Given the description of an element on the screen output the (x, y) to click on. 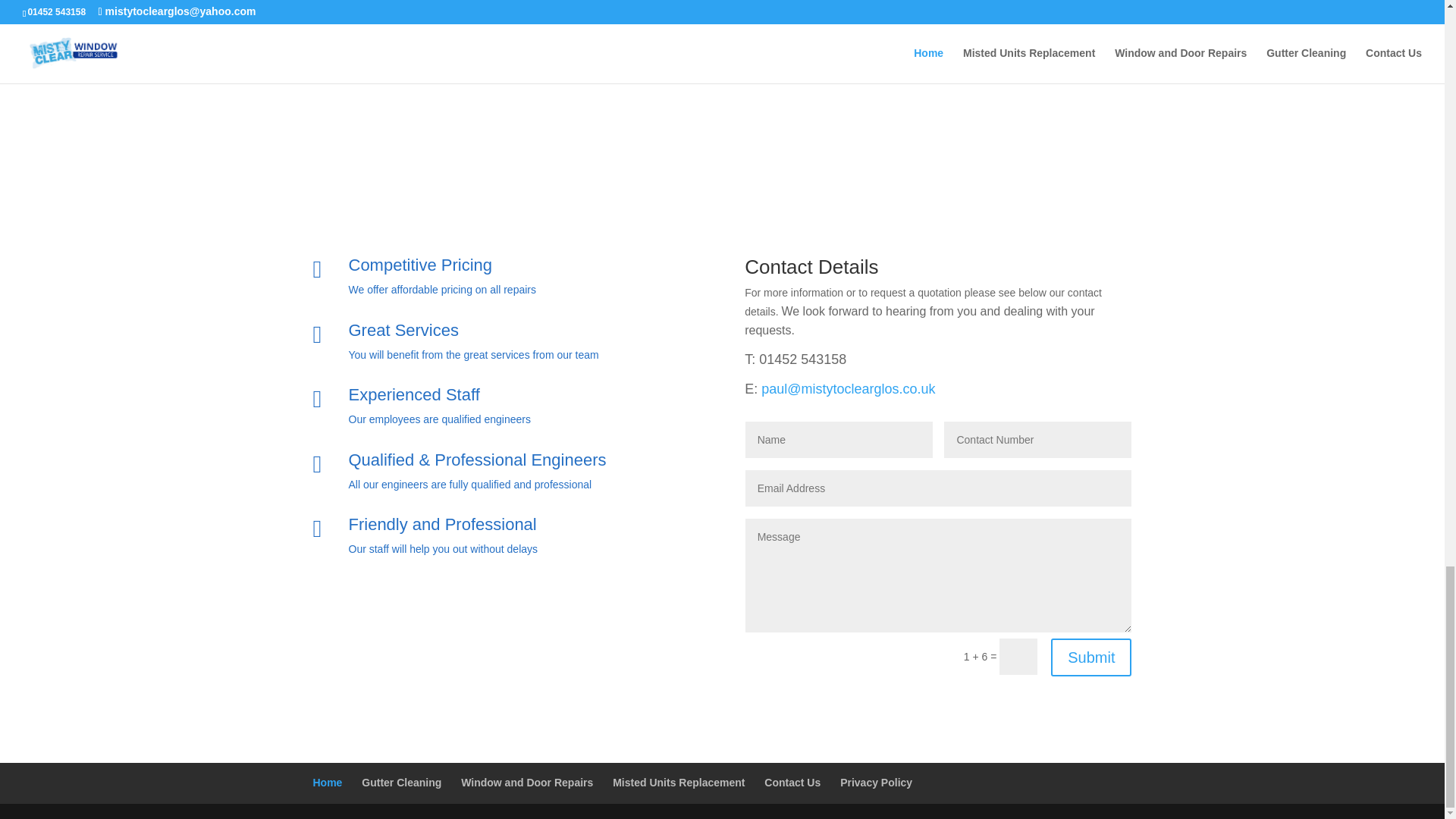
Misted Units Replacement (678, 782)
Window and Door Repairs (526, 782)
Home (327, 782)
Gutter Cleaning (401, 782)
Submit (1091, 657)
Privacy Policy (876, 782)
Contact Us (792, 782)
